Given the description of an element on the screen output the (x, y) to click on. 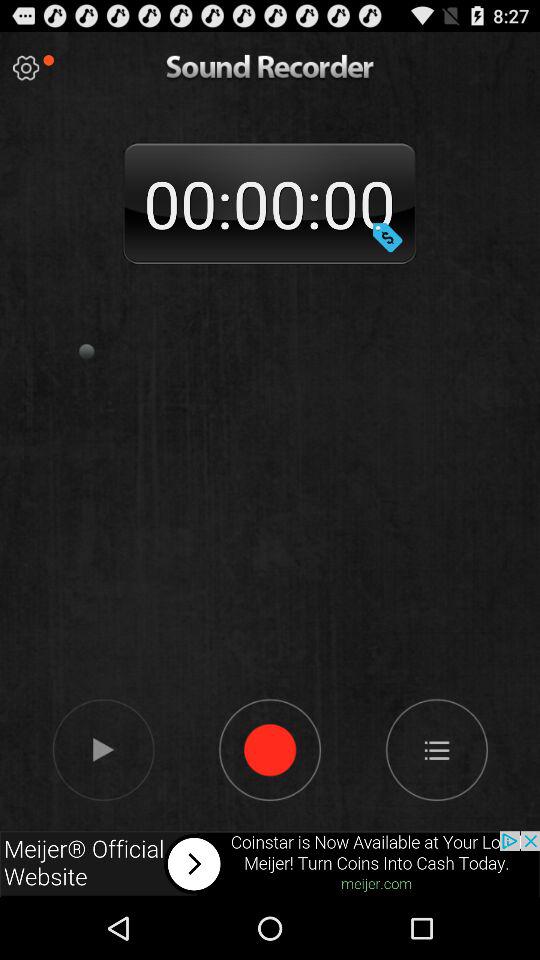
home settings (436, 749)
